Given the description of an element on the screen output the (x, y) to click on. 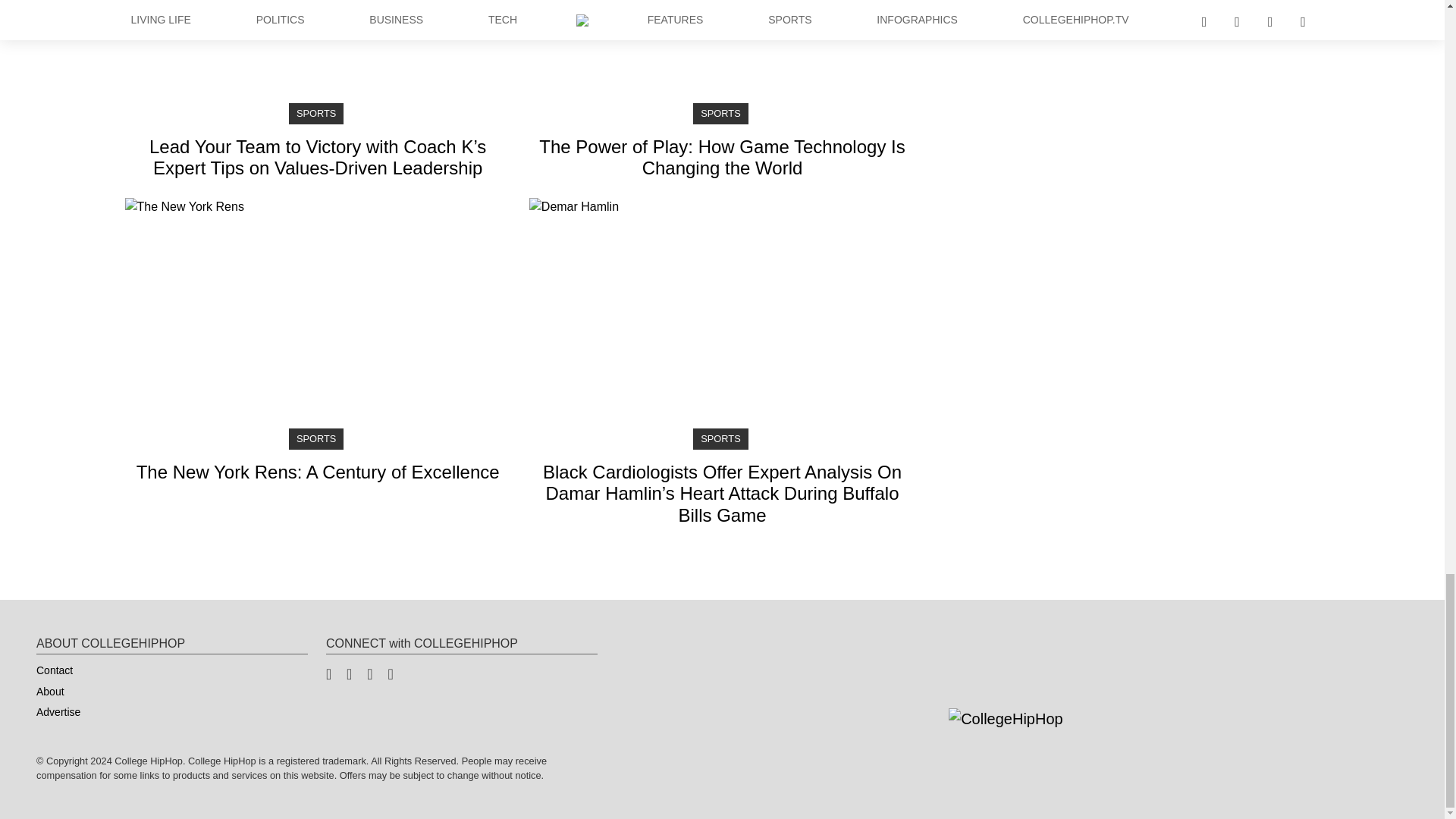
Advertise (317, 343)
About (58, 712)
Contact (50, 691)
